Given the description of an element on the screen output the (x, y) to click on. 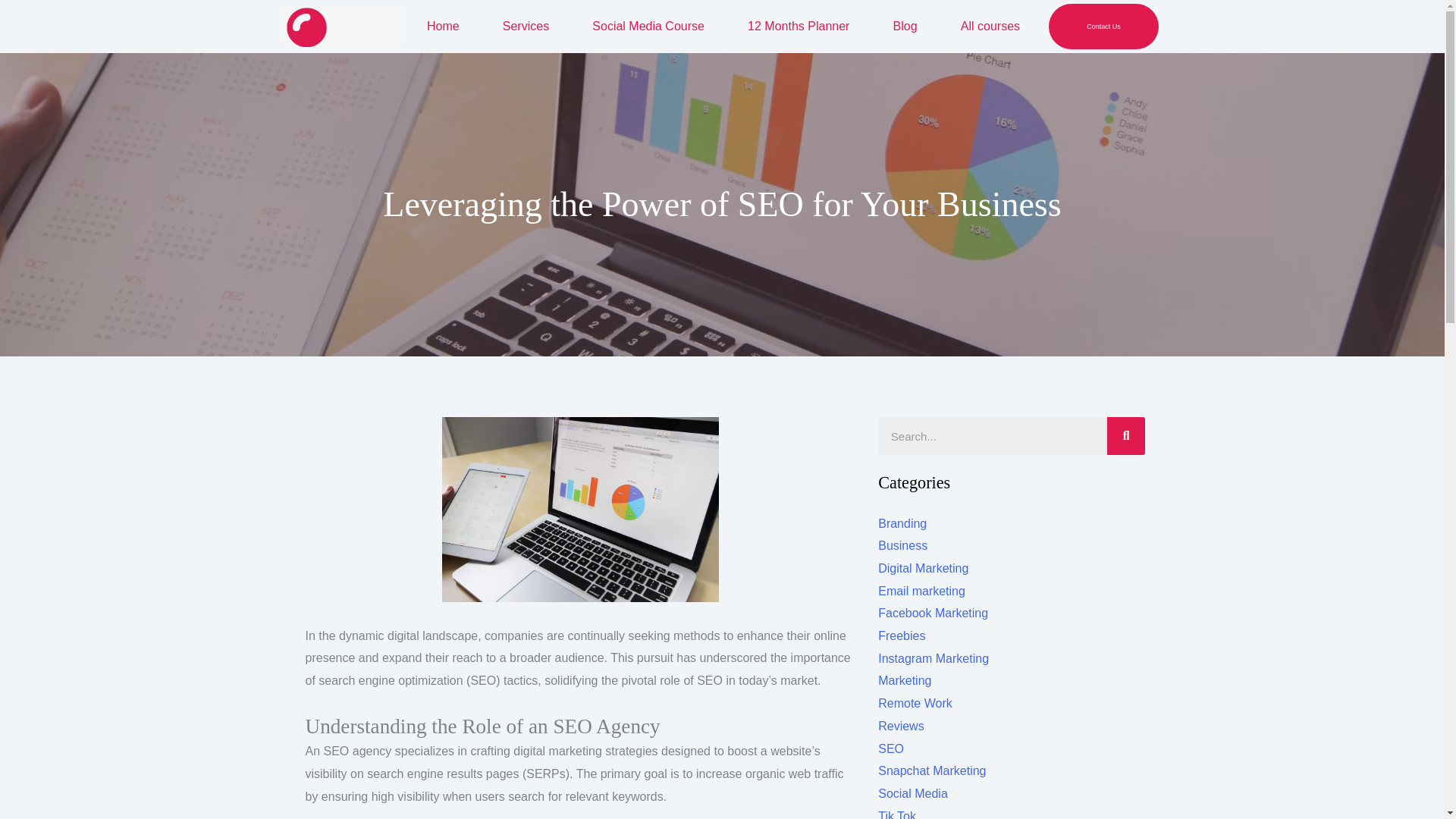
cropped-Wendiloveee-logo-official-2.png (343, 26)
Search (991, 435)
Contact Us (1103, 26)
Services (525, 26)
Blog (904, 26)
All courses (990, 26)
Home (442, 26)
Social Media Course (648, 26)
12 Months Planner (798, 26)
Search (1125, 435)
